Given the description of an element on the screen output the (x, y) to click on. 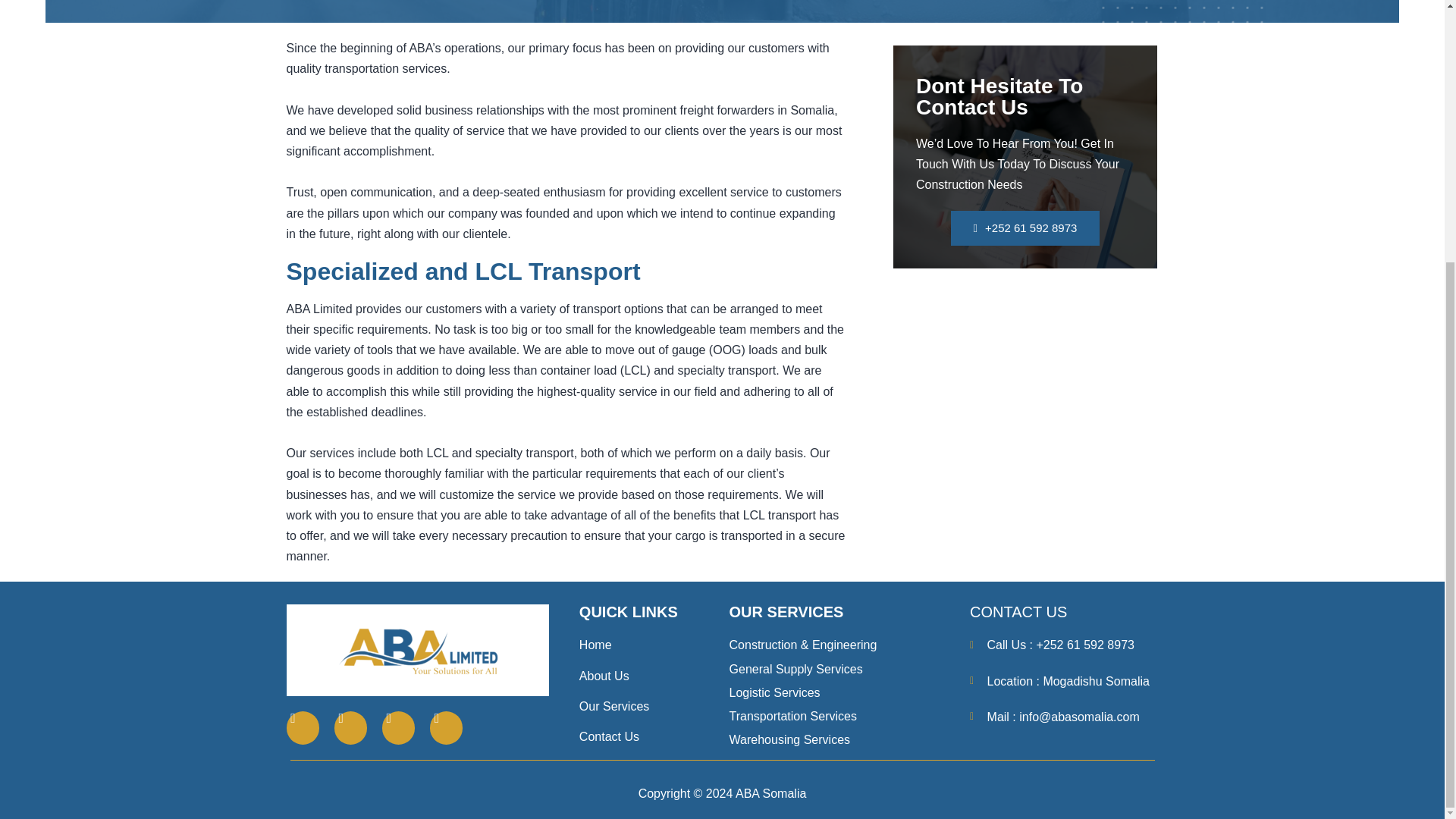
Warehousing Services (838, 739)
Logistic Services (838, 692)
General Supply Services (838, 669)
Transportation Services (838, 715)
Home (654, 644)
Contact Us (654, 736)
About Us (654, 675)
Our Services (654, 706)
